Given the description of an element on the screen output the (x, y) to click on. 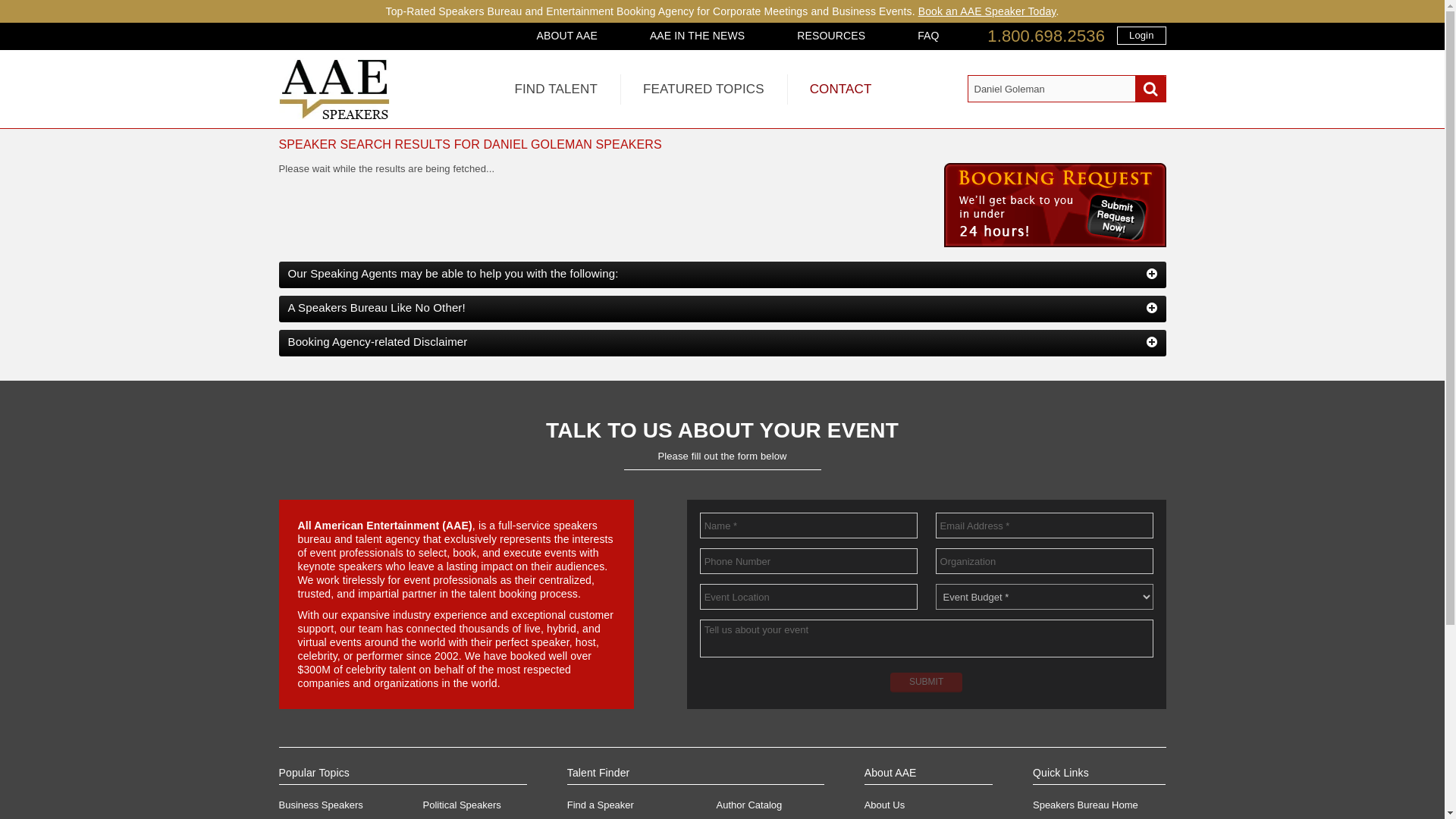
SUBMIT (925, 682)
Book an AAE Speaker Today (987, 10)
1.800.698.2536 (1046, 35)
All American Speakers Bureau and Celebrity Booking Agency (334, 116)
FAQ (927, 34)
Daniel Goleman (1067, 88)
ABOUT AAE (566, 34)
Login (1141, 35)
Search (1150, 89)
RESOURCES (830, 34)
AAE IN THE NEWS (697, 34)
